Given the description of an element on the screen output the (x, y) to click on. 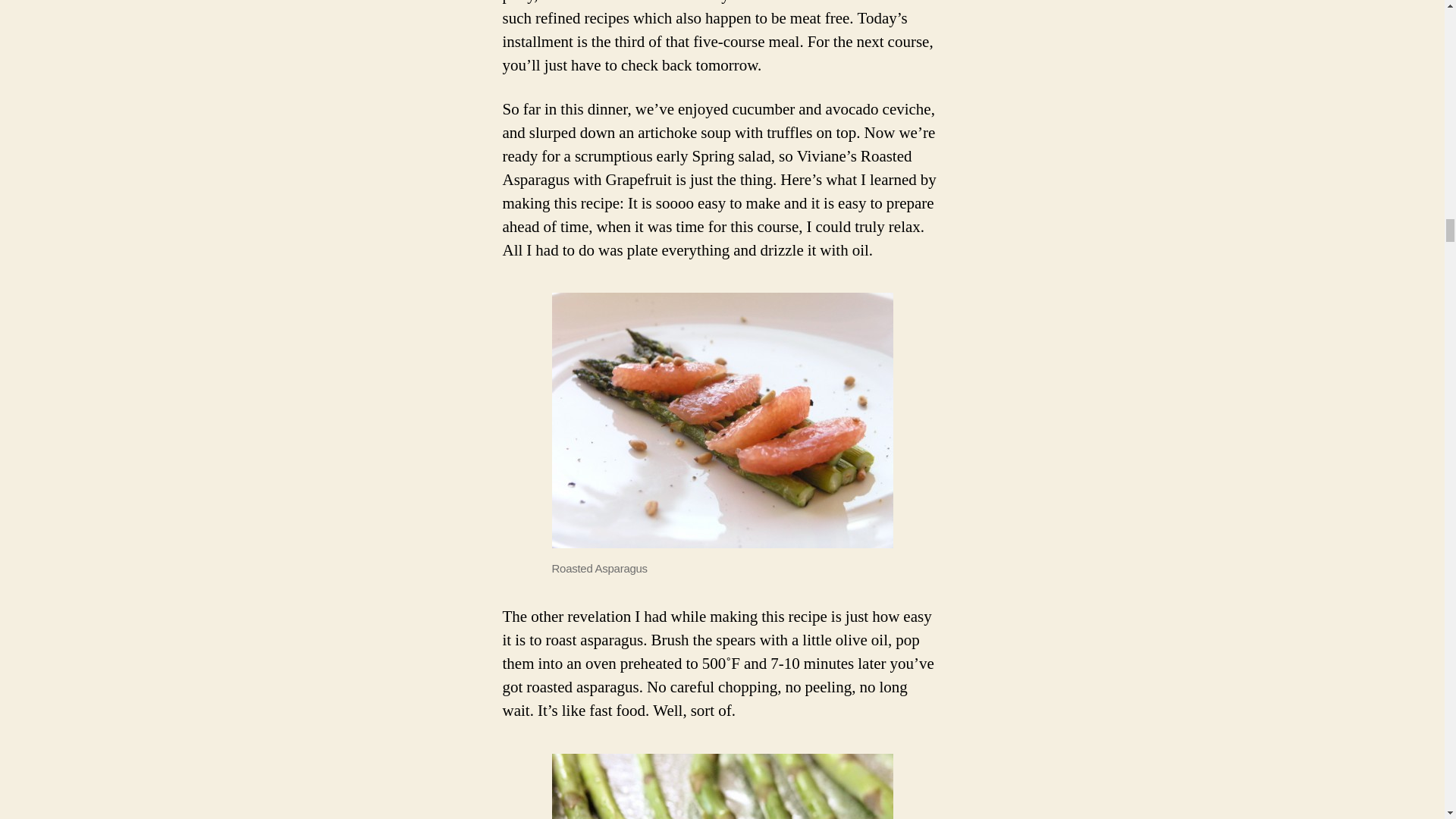
P4235218 (722, 419)
P4175114 (722, 786)
